Given the description of an element on the screen output the (x, y) to click on. 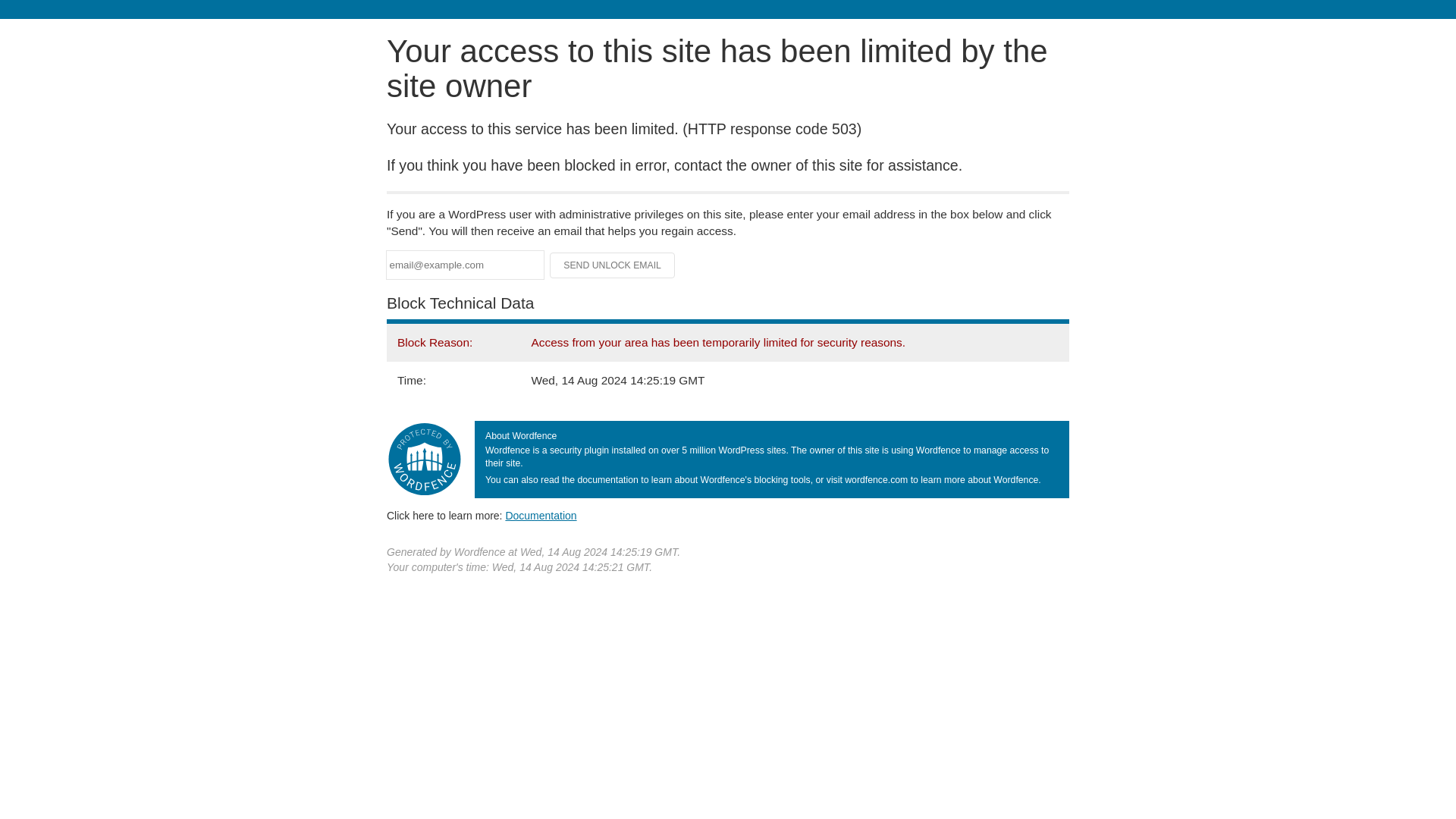
Send Unlock Email (612, 265)
Send Unlock Email (612, 265)
Documentation (540, 515)
